Given the description of an element on the screen output the (x, y) to click on. 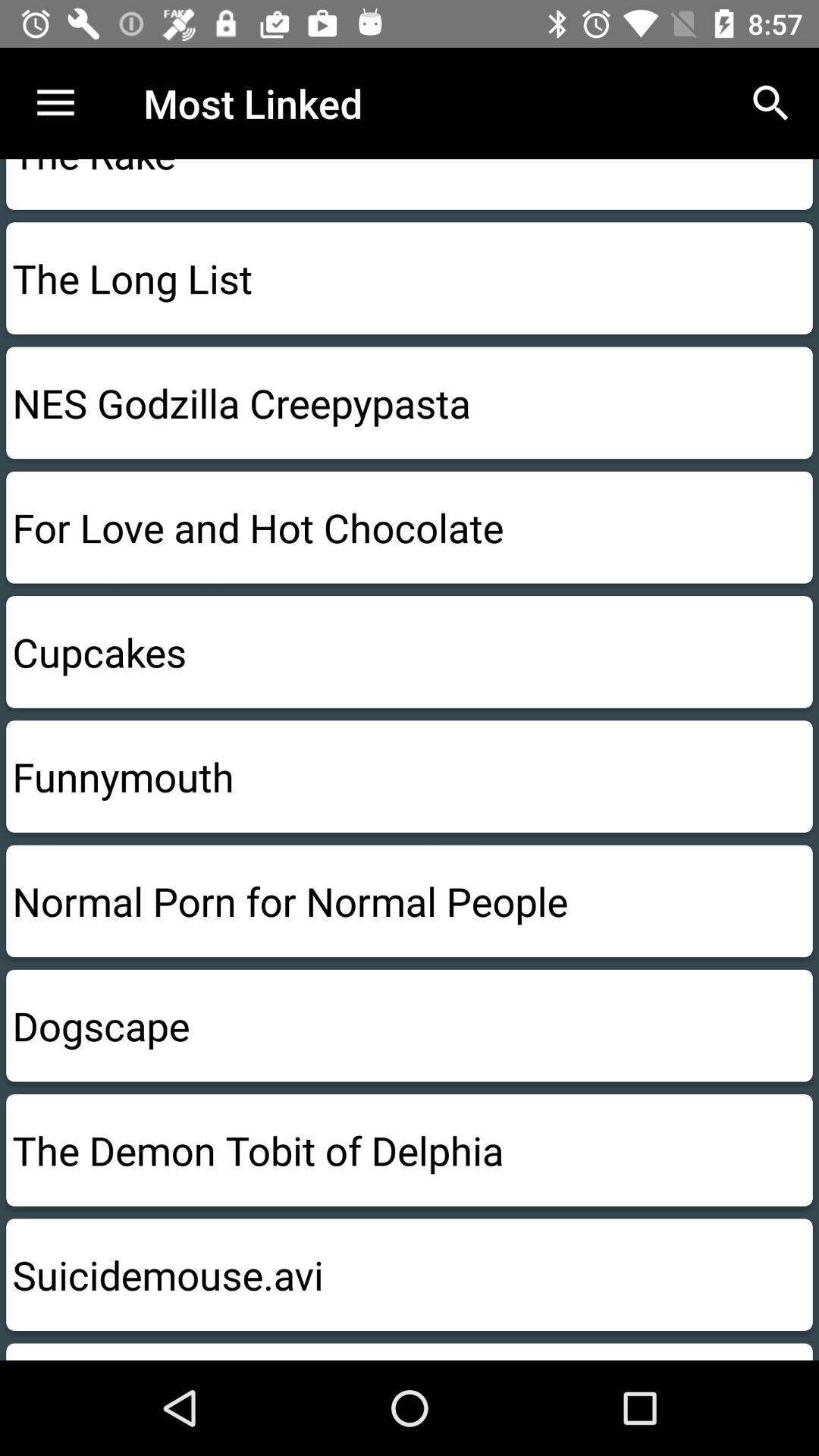
select item next to most linked item (771, 103)
